Given the description of an element on the screen output the (x, y) to click on. 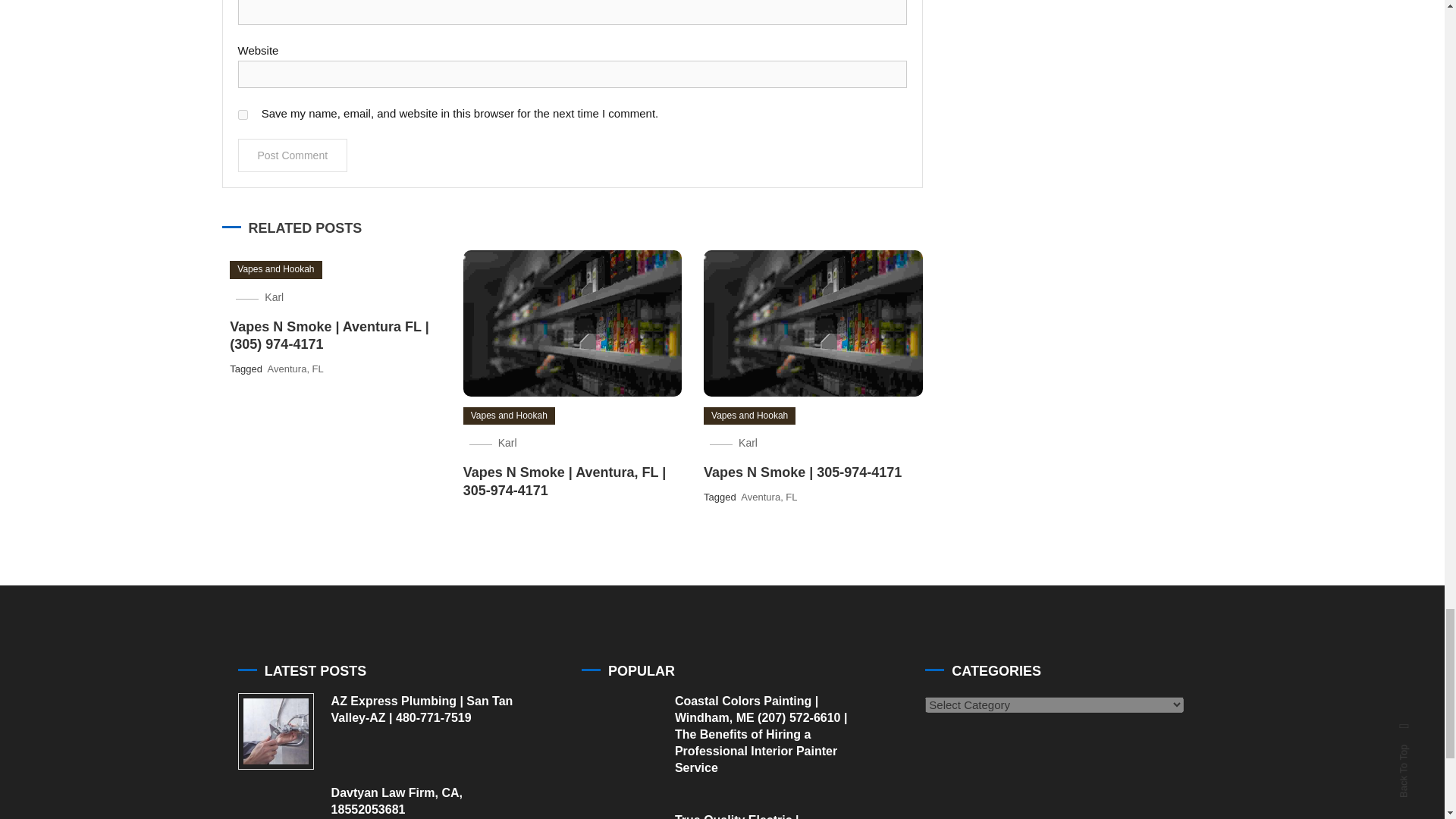
Post Comment (292, 154)
yes (242, 114)
